Given the description of an element on the screen output the (x, y) to click on. 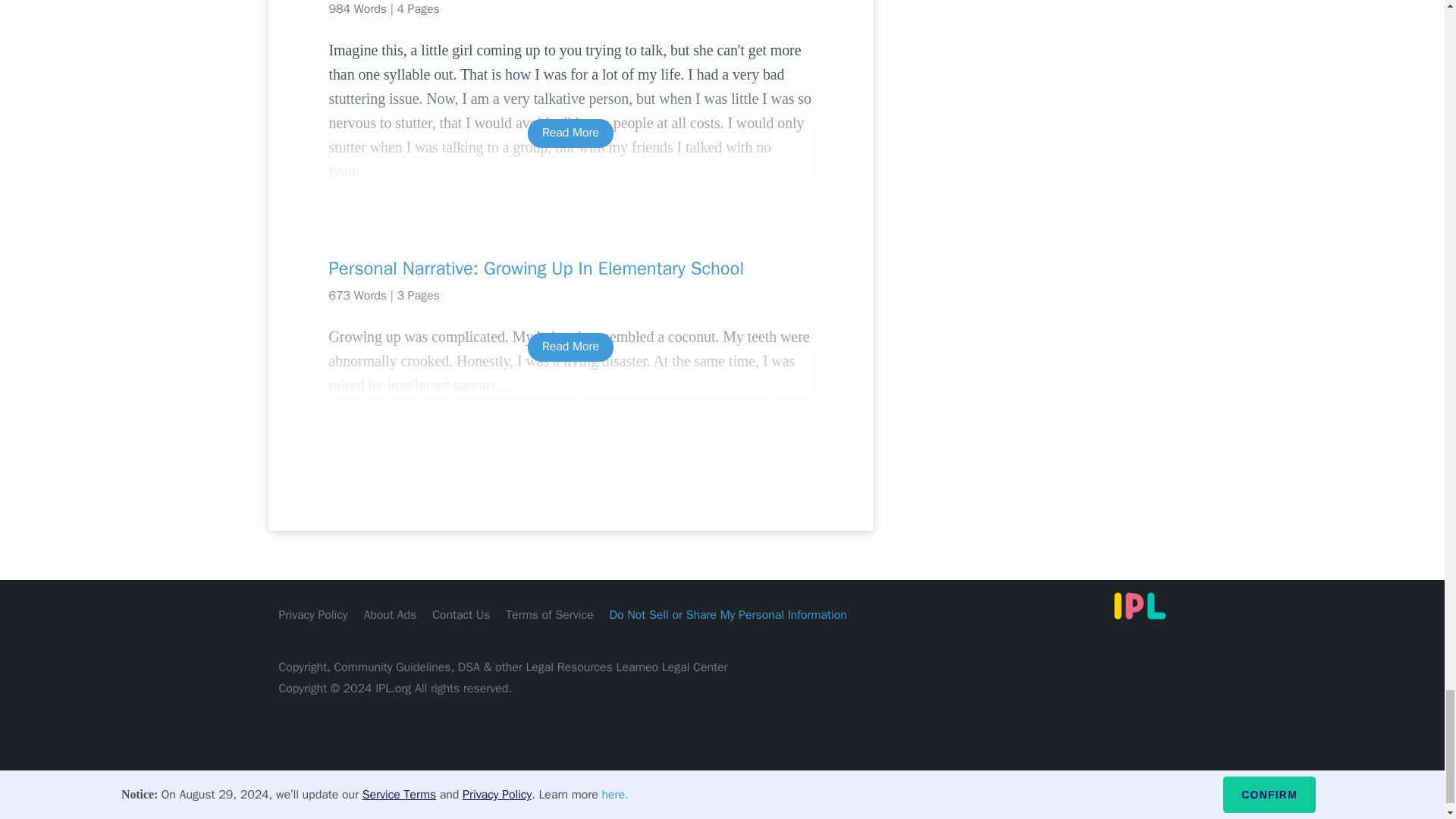
Contact Us (460, 613)
Terms of Service (548, 613)
Privacy Policy (313, 613)
About Ads (389, 613)
